Given the description of an element on the screen output the (x, y) to click on. 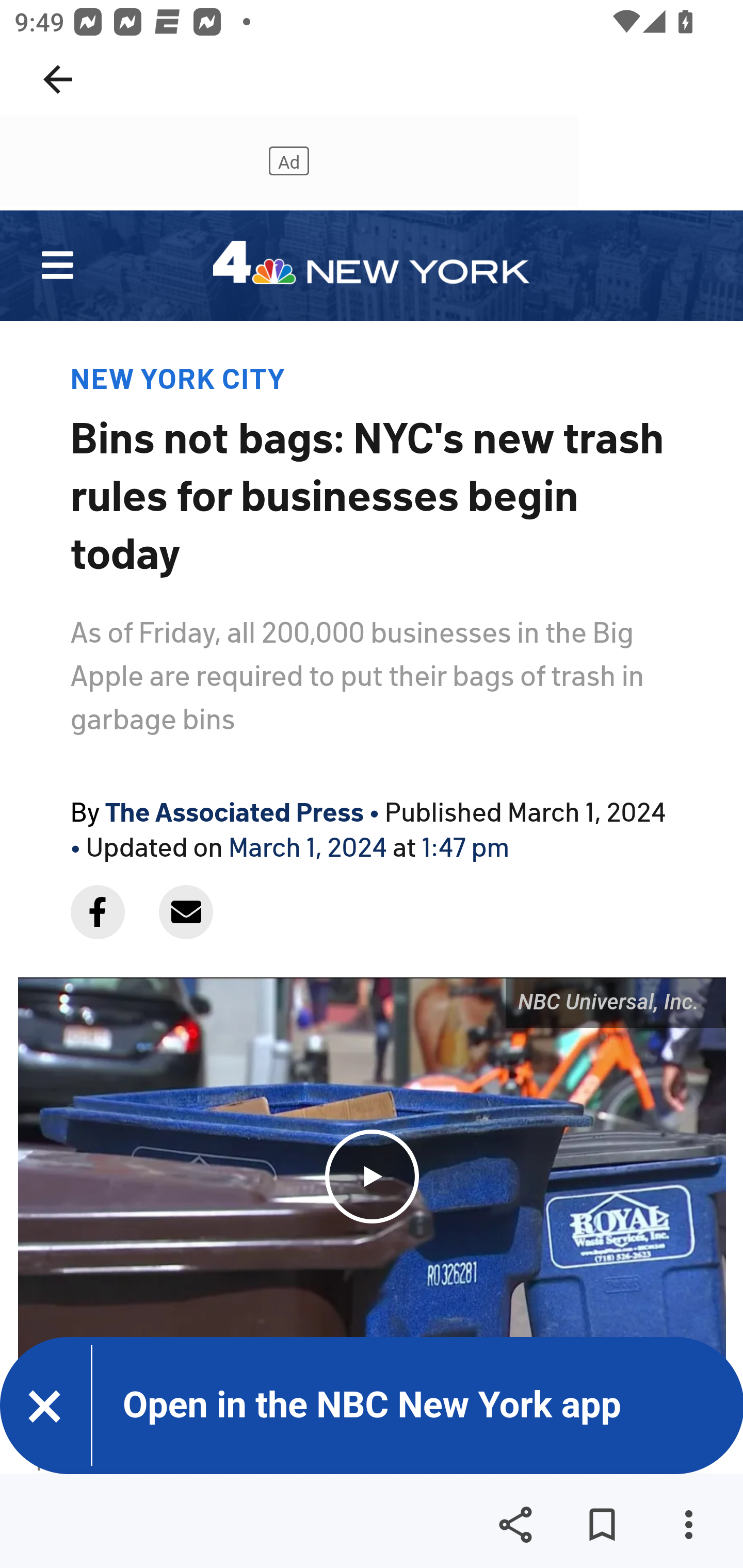
Navigate up (57, 79)
NBC New York (371, 264)
NEW YORK CITY (177, 376)
The Associated Press (234, 809)
sharer.php?u=https%3A%2F%2Fwww.nbcnewyork (97, 912)
App Download or Open Button (336, 1404)
Share (514, 1524)
Save for later (601, 1524)
More options (688, 1524)
